Given the description of an element on the screen output the (x, y) to click on. 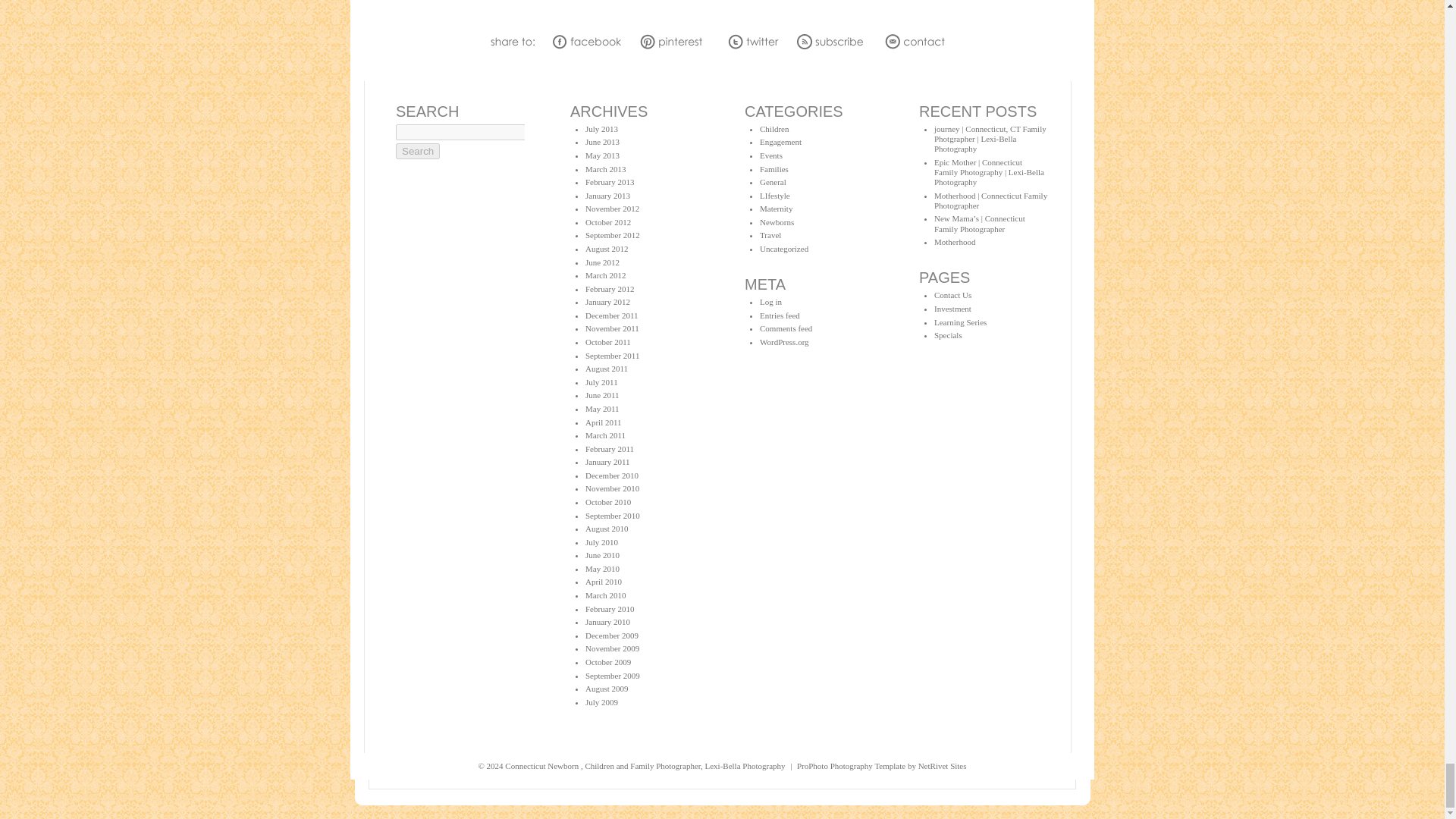
Search (417, 150)
